Given the description of an element on the screen output the (x, y) to click on. 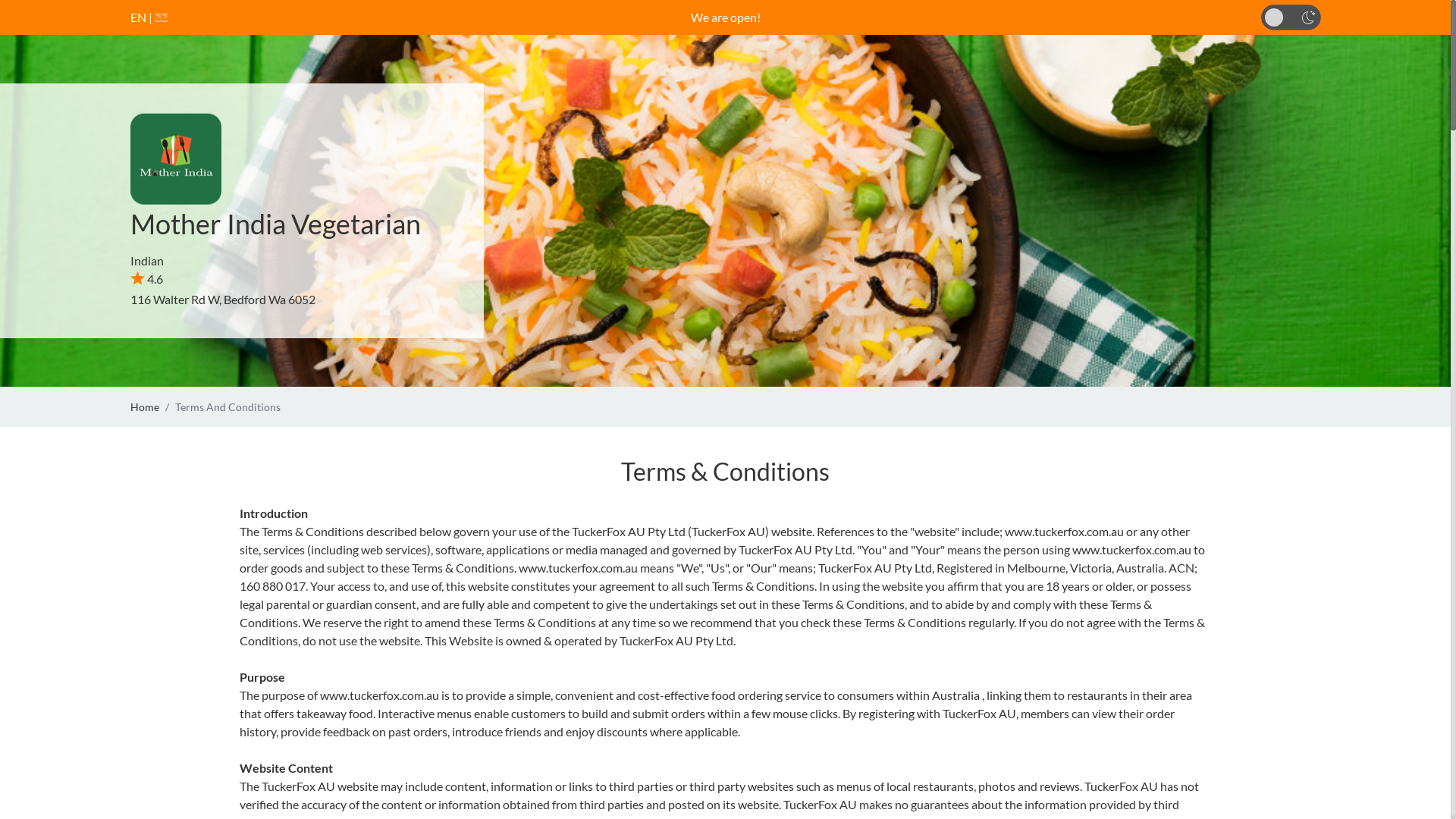
EN Element type: text (138, 16)
Mother India Vegetarian Element type: text (275, 223)
Home Element type: text (144, 406)
4.6 Element type: text (146, 278)
